Given the description of an element on the screen output the (x, y) to click on. 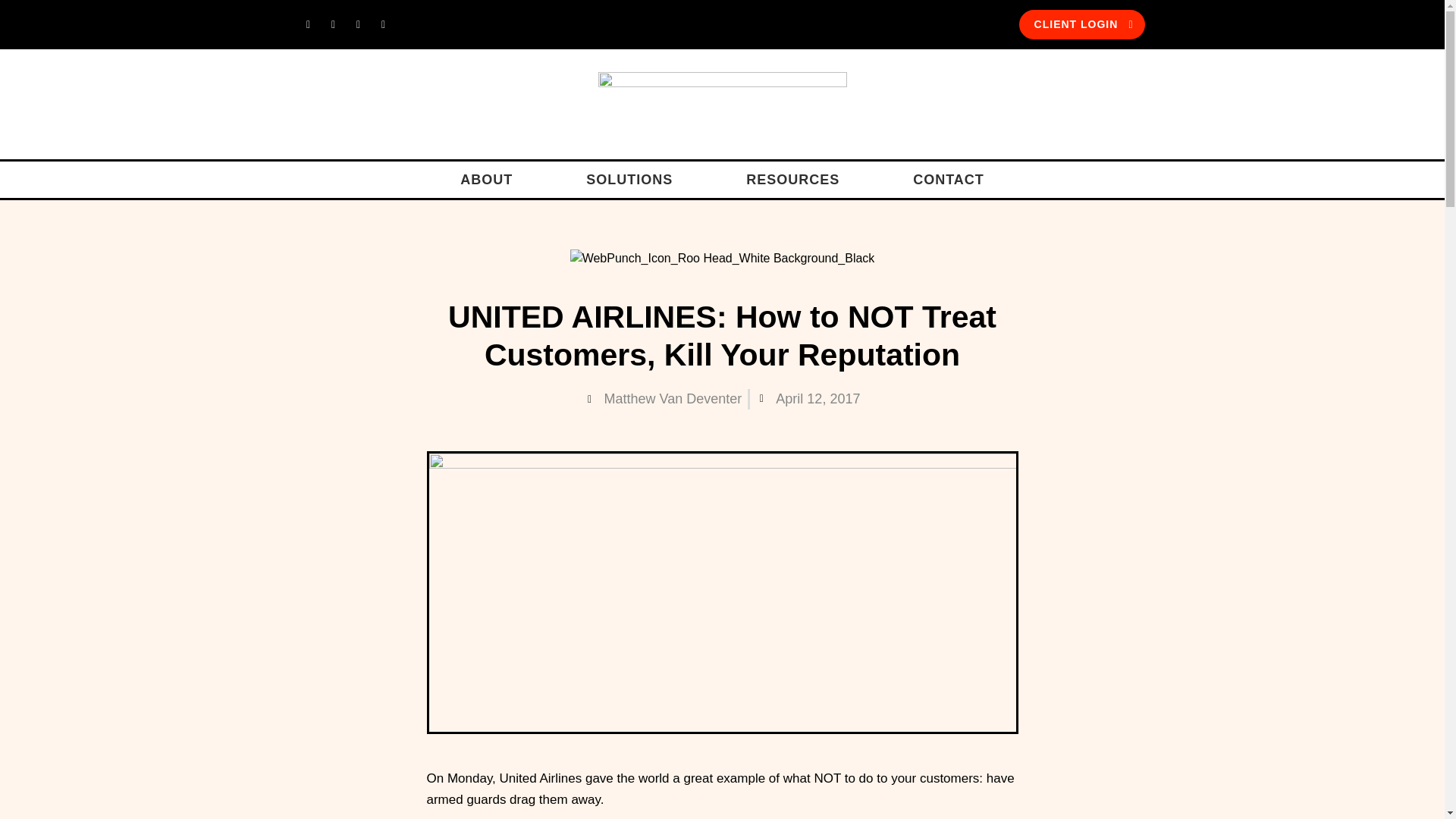
CLIENT LOGIN (1081, 24)
SOLUTIONS (628, 179)
RESOURCES (792, 179)
CONTACT (948, 179)
ABOUT (486, 179)
